Given the description of an element on the screen output the (x, y) to click on. 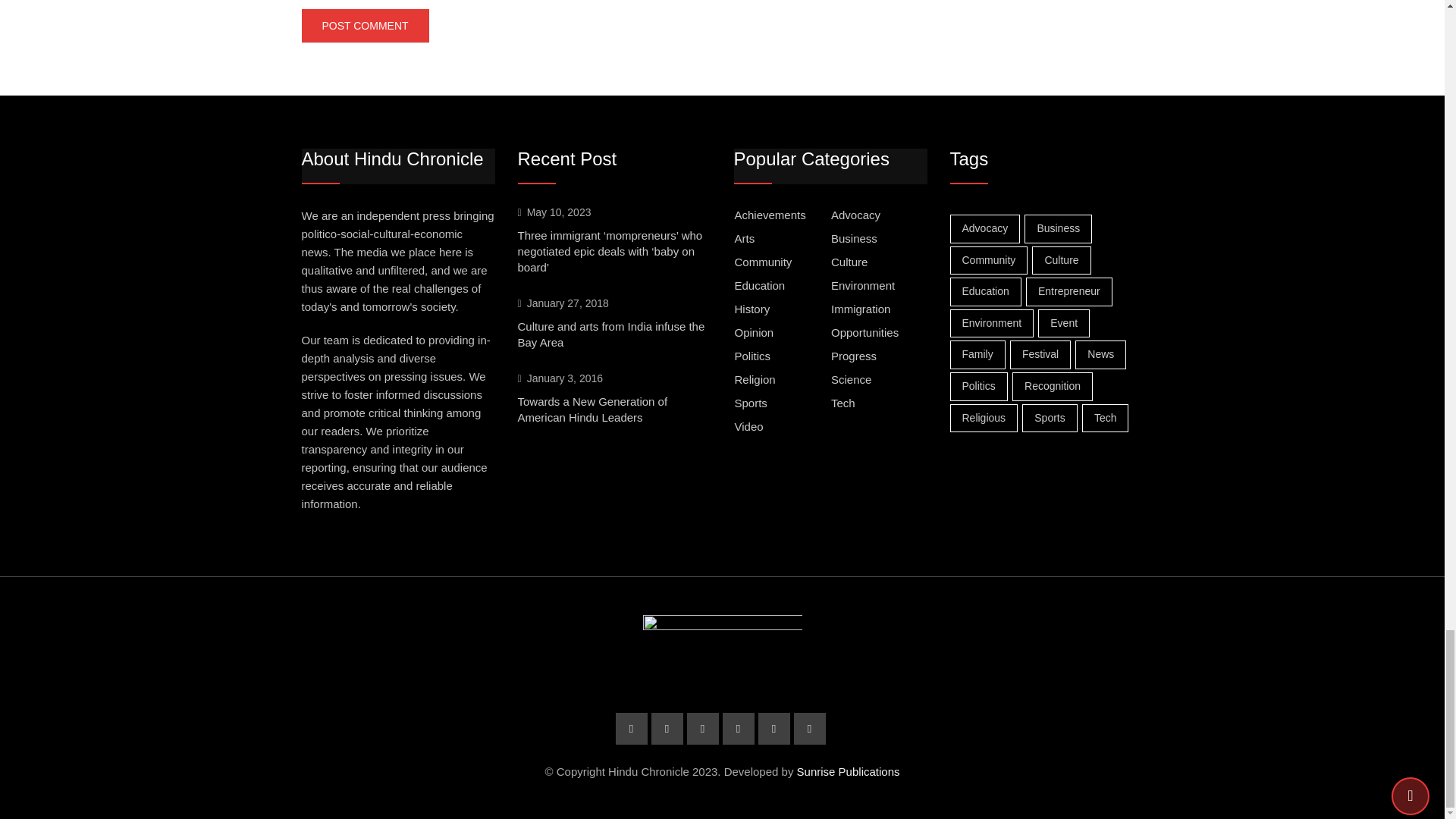
Post Comment (365, 25)
